Given the description of an element on the screen output the (x, y) to click on. 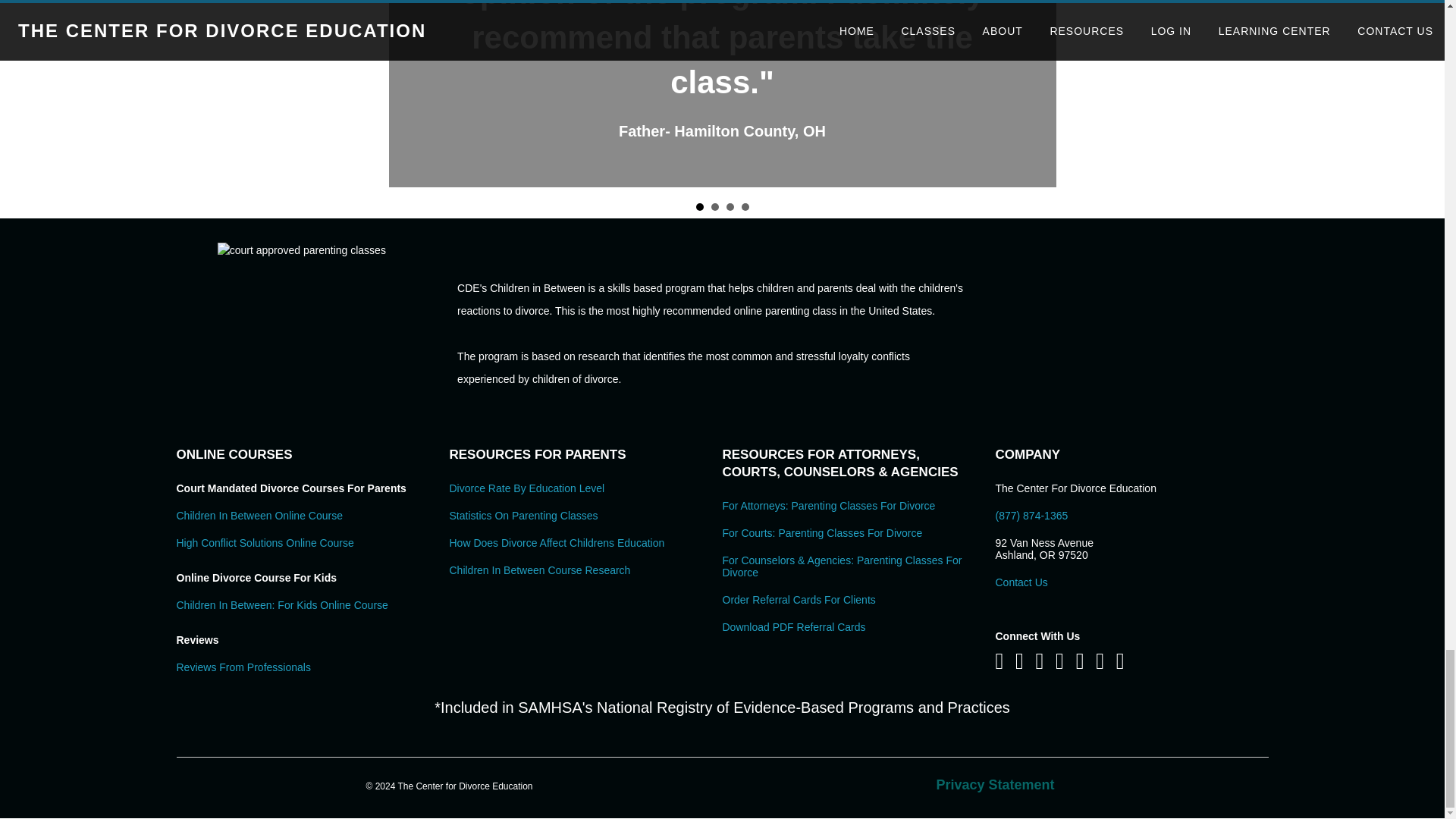
4 (745, 206)
High Conflict Solutions Online Course (264, 542)
Children In Between Online Course (259, 515)
Divorce Rate By Education Level (526, 488)
Children In Between: For Kids Online Course (281, 604)
Reviews From Professionals (243, 666)
How Does Divorce Affect Childrens Education (555, 542)
Statistics On Parenting Classes (522, 515)
1 (699, 206)
2 (715, 206)
3 (729, 206)
Children In Between Course Research (539, 570)
